Given the description of an element on the screen output the (x, y) to click on. 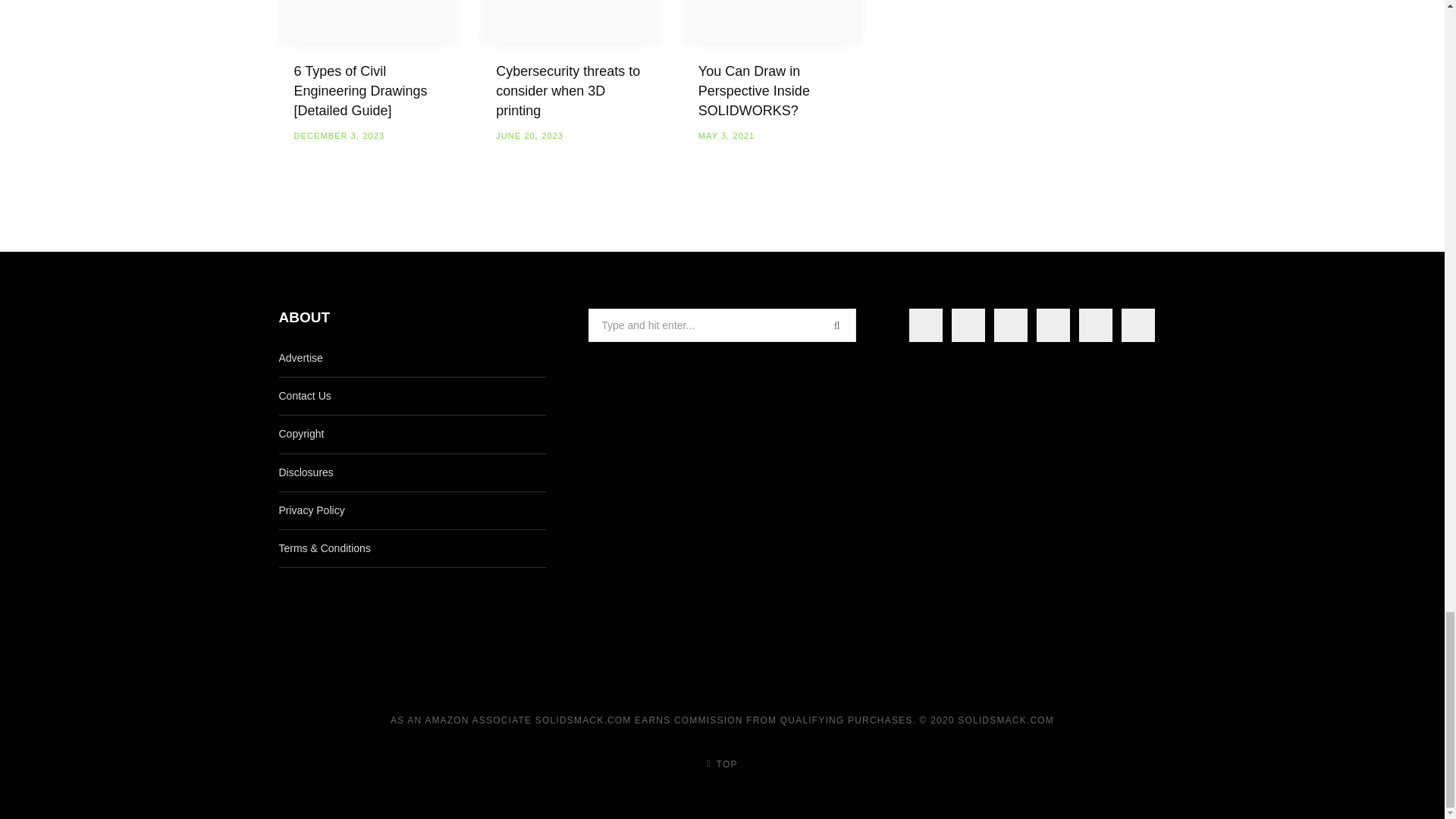
You Can Draw in Perspective Inside SOLIDWORKS? (772, 21)
Cybersecurity threats to consider when 3D printing (570, 21)
Search for: (722, 325)
